Given the description of an element on the screen output the (x, y) to click on. 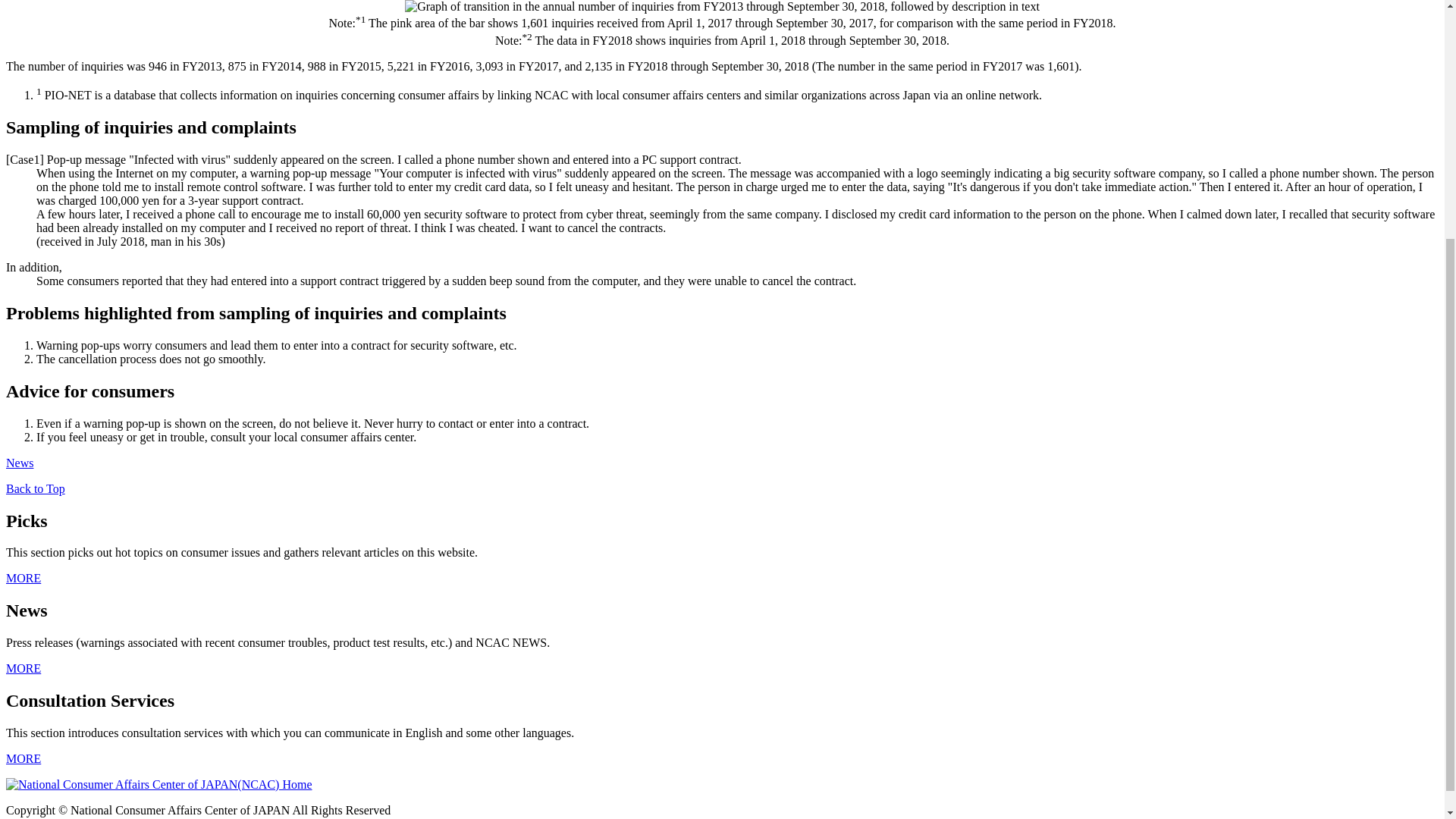
MORE (22, 577)
Back to Top (35, 488)
MORE (22, 758)
MORE (22, 667)
News (19, 462)
